Given the description of an element on the screen output the (x, y) to click on. 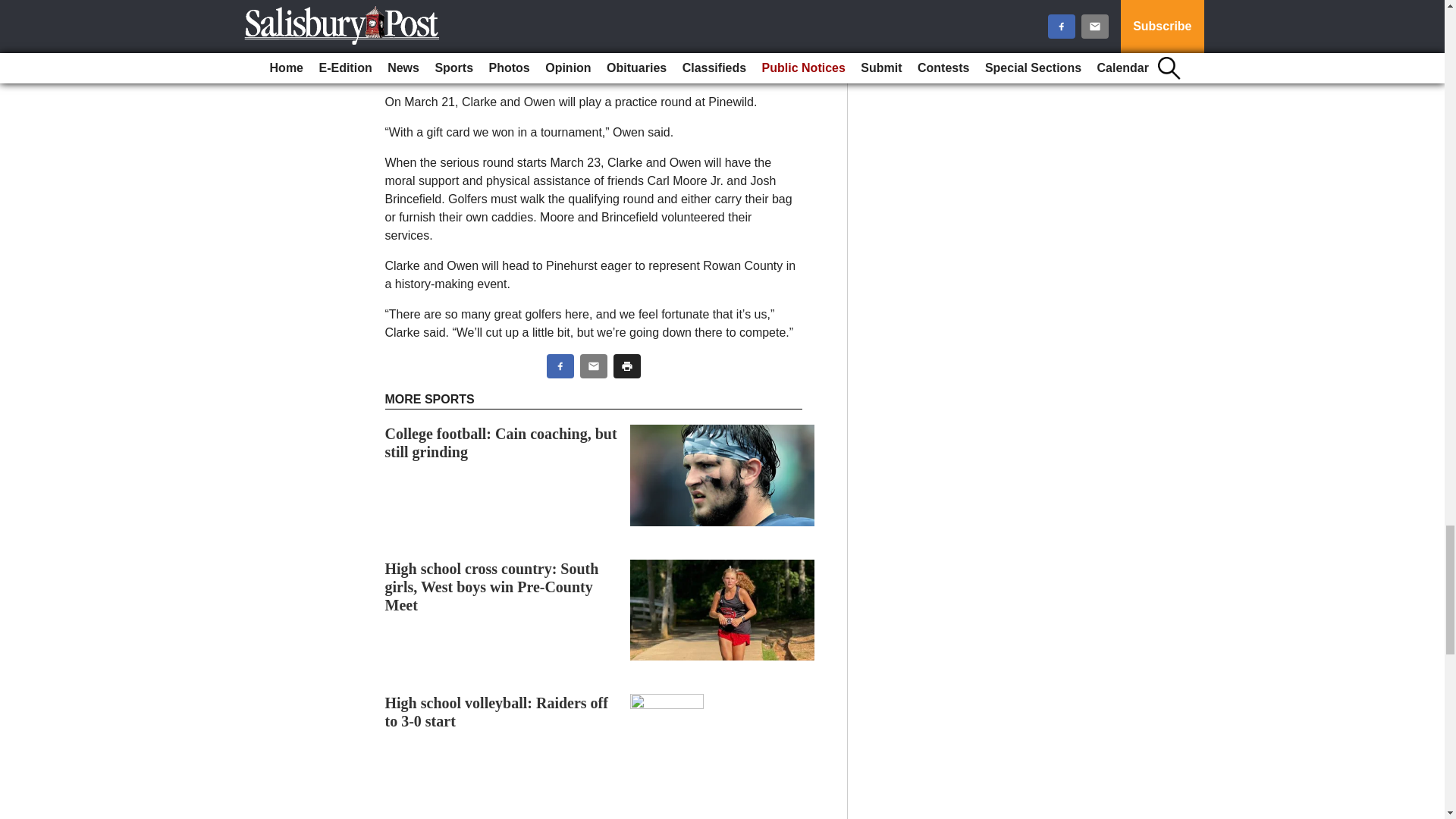
High school volleyball: Raiders off to 3-0 start (496, 711)
College football: Cain coaching, but still grinding (501, 442)
